Given the description of an element on the screen output the (x, y) to click on. 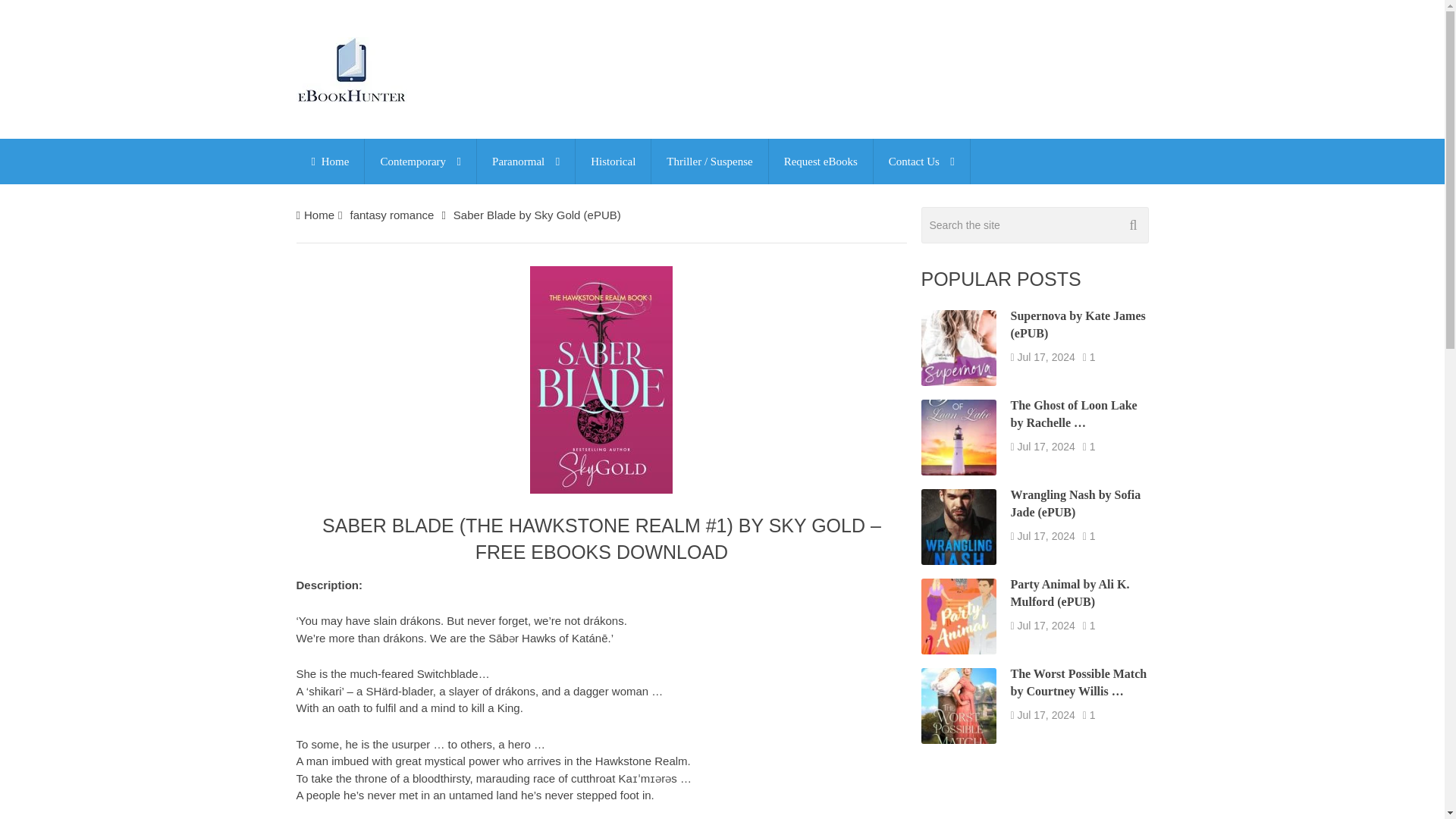
Paranormal (526, 161)
Contact Us (921, 161)
Historical (612, 161)
Home (319, 214)
Home (329, 161)
Request eBooks (820, 161)
Contemporary (420, 161)
fantasy romance (391, 214)
